Given the description of an element on the screen output the (x, y) to click on. 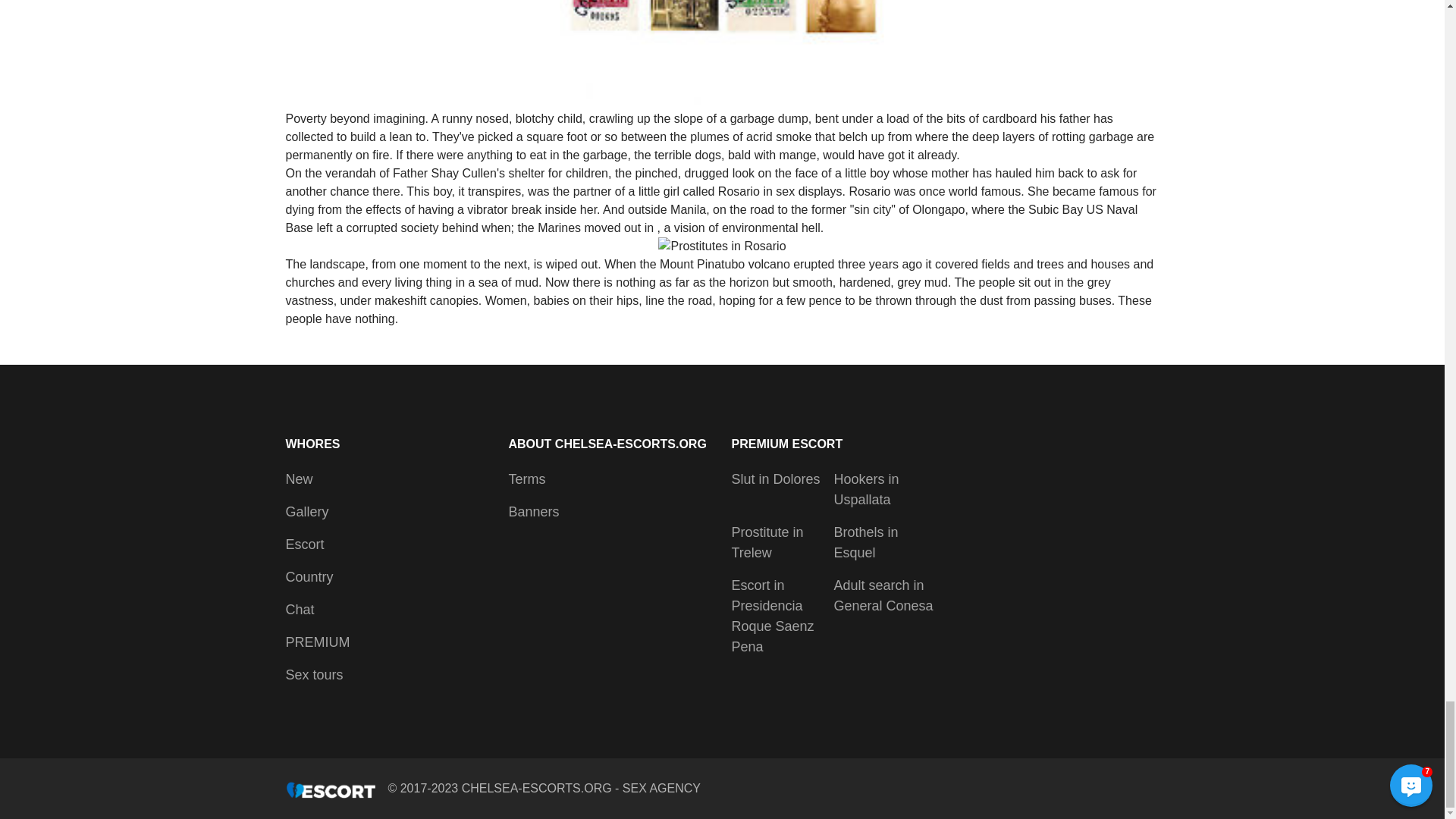
SEX AGENCY in Rosario (722, 246)
Teen girls Rosario (721, 52)
